Given the description of an element on the screen output the (x, y) to click on. 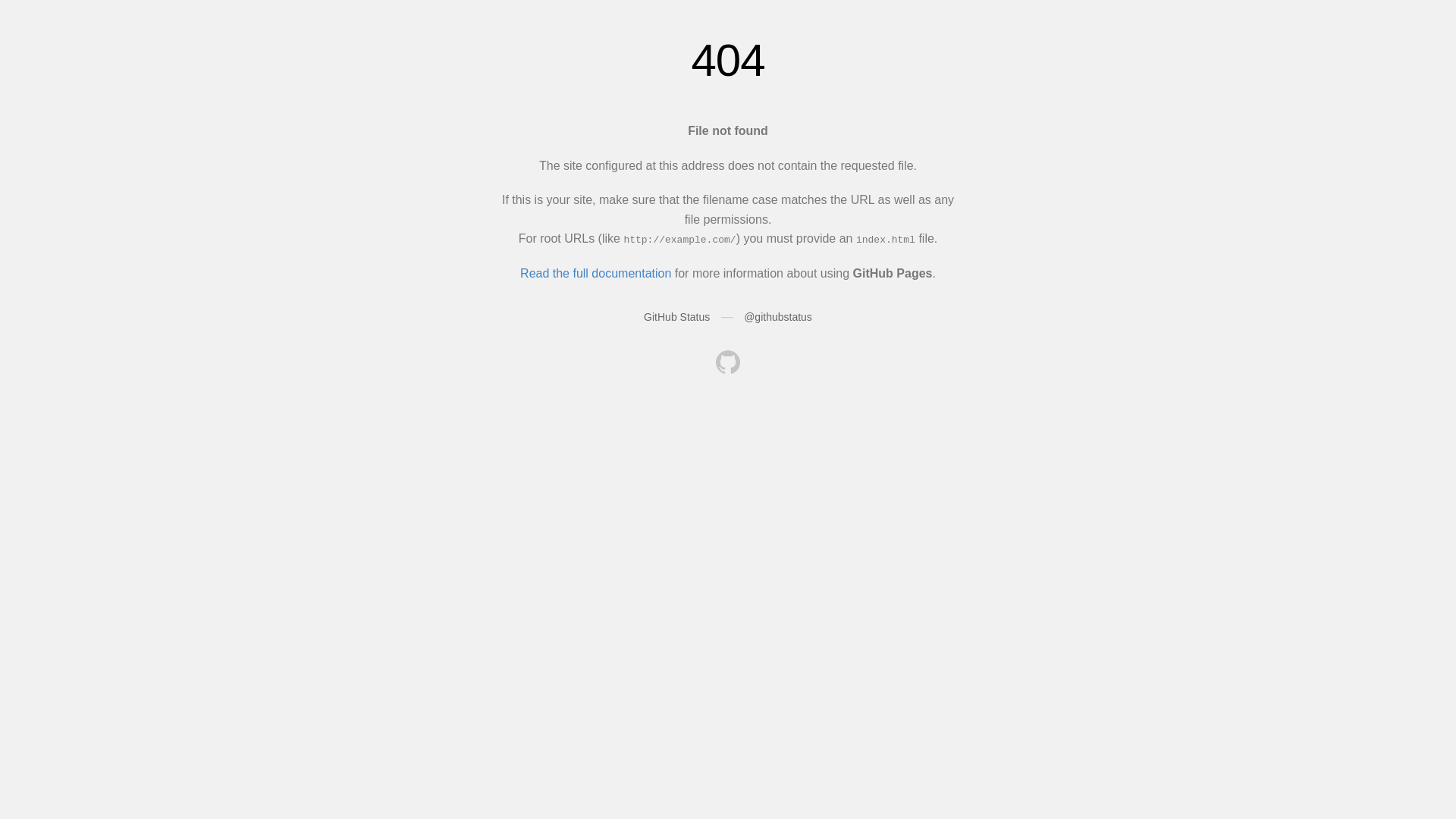
@githubstatus Element type: text (777, 316)
GitHub Status Element type: text (676, 316)
Read the full documentation Element type: text (595, 272)
